Given the description of an element on the screen output the (x, y) to click on. 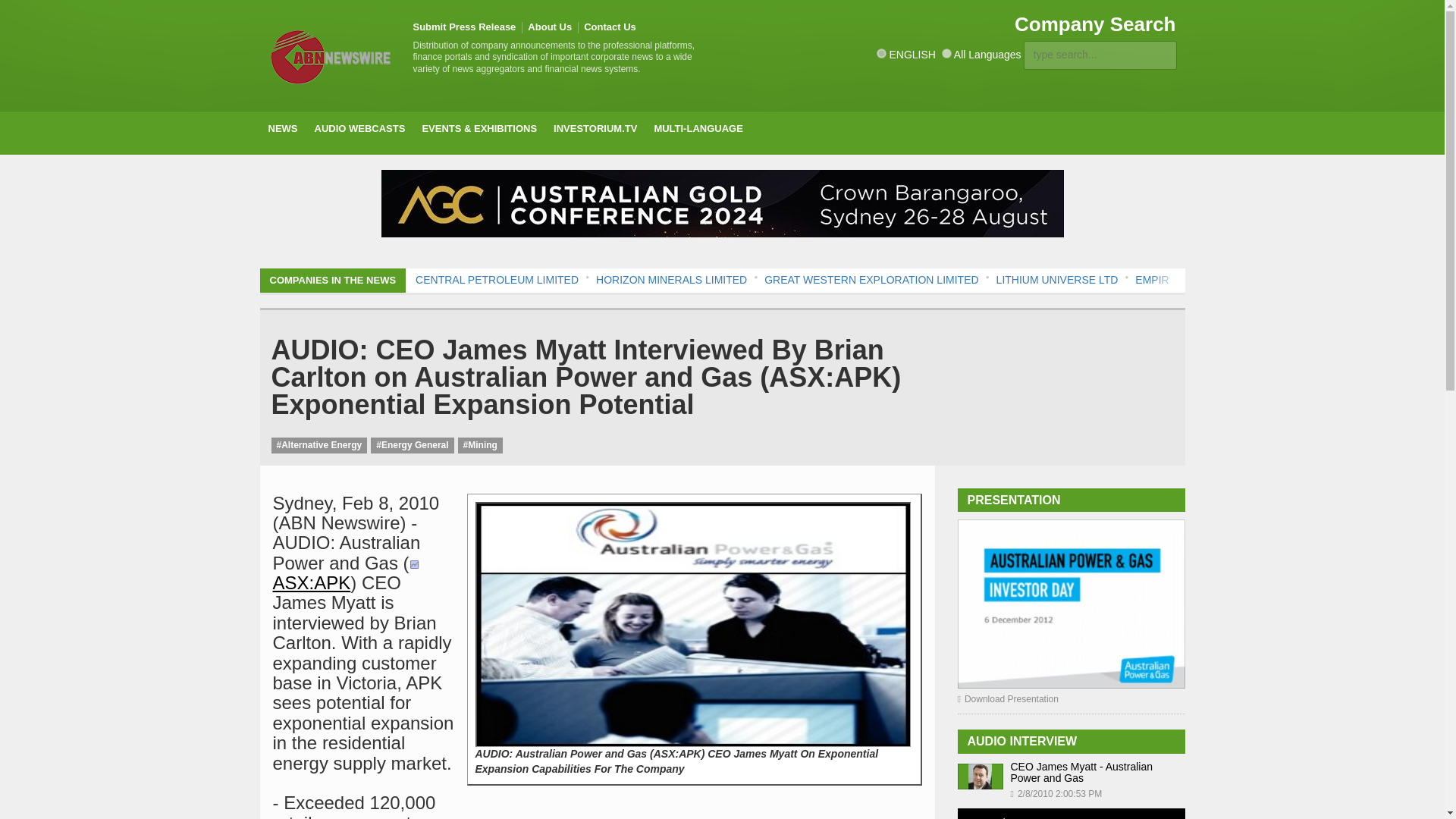
NEWS (282, 129)
Search in English (881, 53)
Search in ALL Languages (947, 53)
Energy General (411, 444)
About Us (549, 26)
Submit Press Release (463, 26)
Australian Stock Exchange (311, 582)
AUDIO WEBCASTS (359, 129)
CRYPTOCURRENCY (350, 163)
Contact Us (609, 26)
xx (947, 53)
Alternative Energy (319, 444)
LIFE SCIENCES (354, 163)
en (881, 53)
Mining (480, 444)
